Given the description of an element on the screen output the (x, y) to click on. 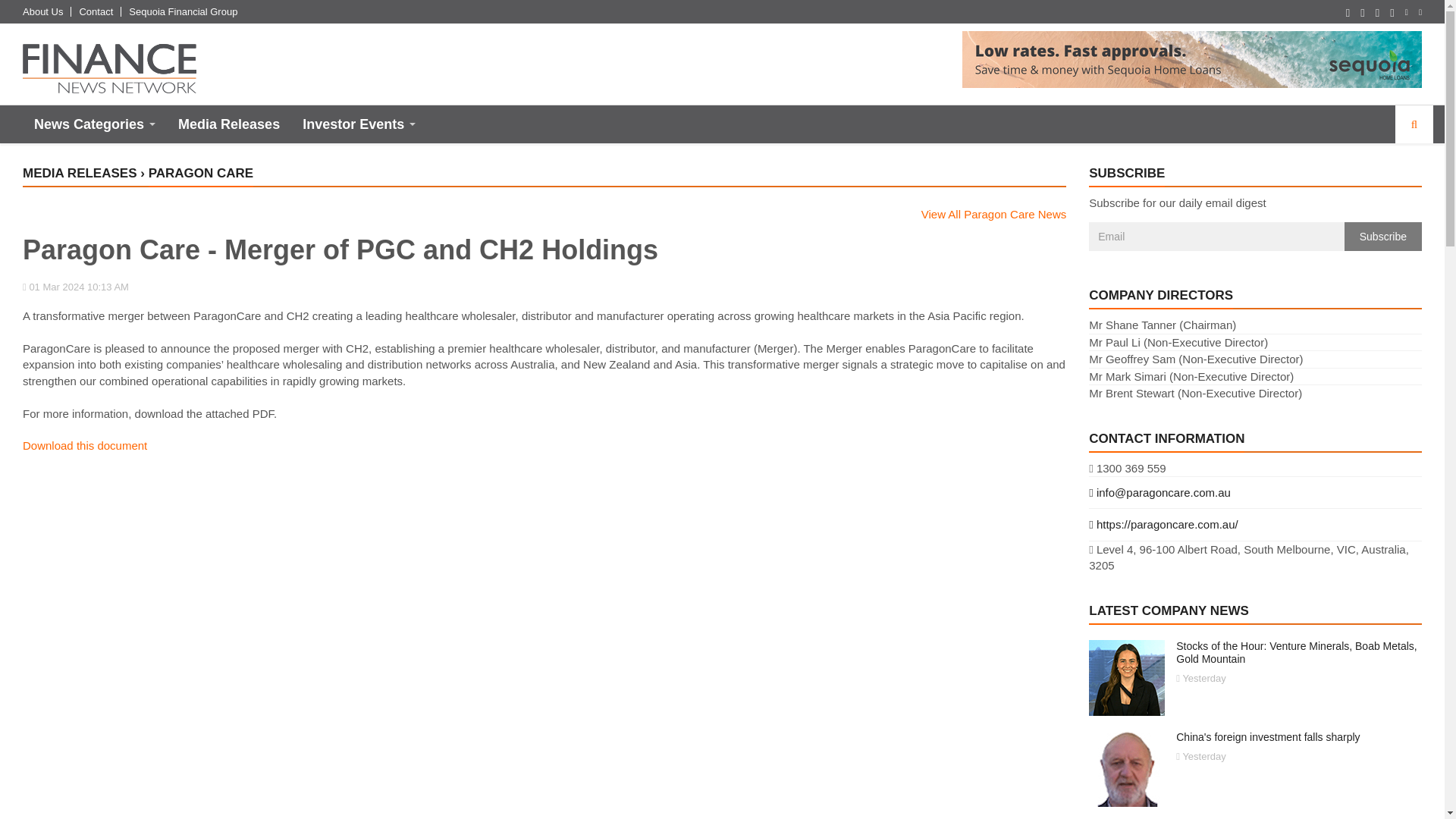
Subscribe (1382, 235)
China's foreign investment falls sharply (1267, 736)
Finance News Network (109, 68)
Sequoia Financial Group (183, 11)
PARAGON CARE (200, 173)
Contact (95, 11)
View All Paragon Care News (993, 214)
About Us (42, 11)
News Categories (95, 124)
Download this document (85, 445)
MEDIA RELEASES (79, 173)
Media Releases (229, 124)
Search (1413, 124)
Investor Events (358, 124)
